Given the description of an element on the screen output the (x, y) to click on. 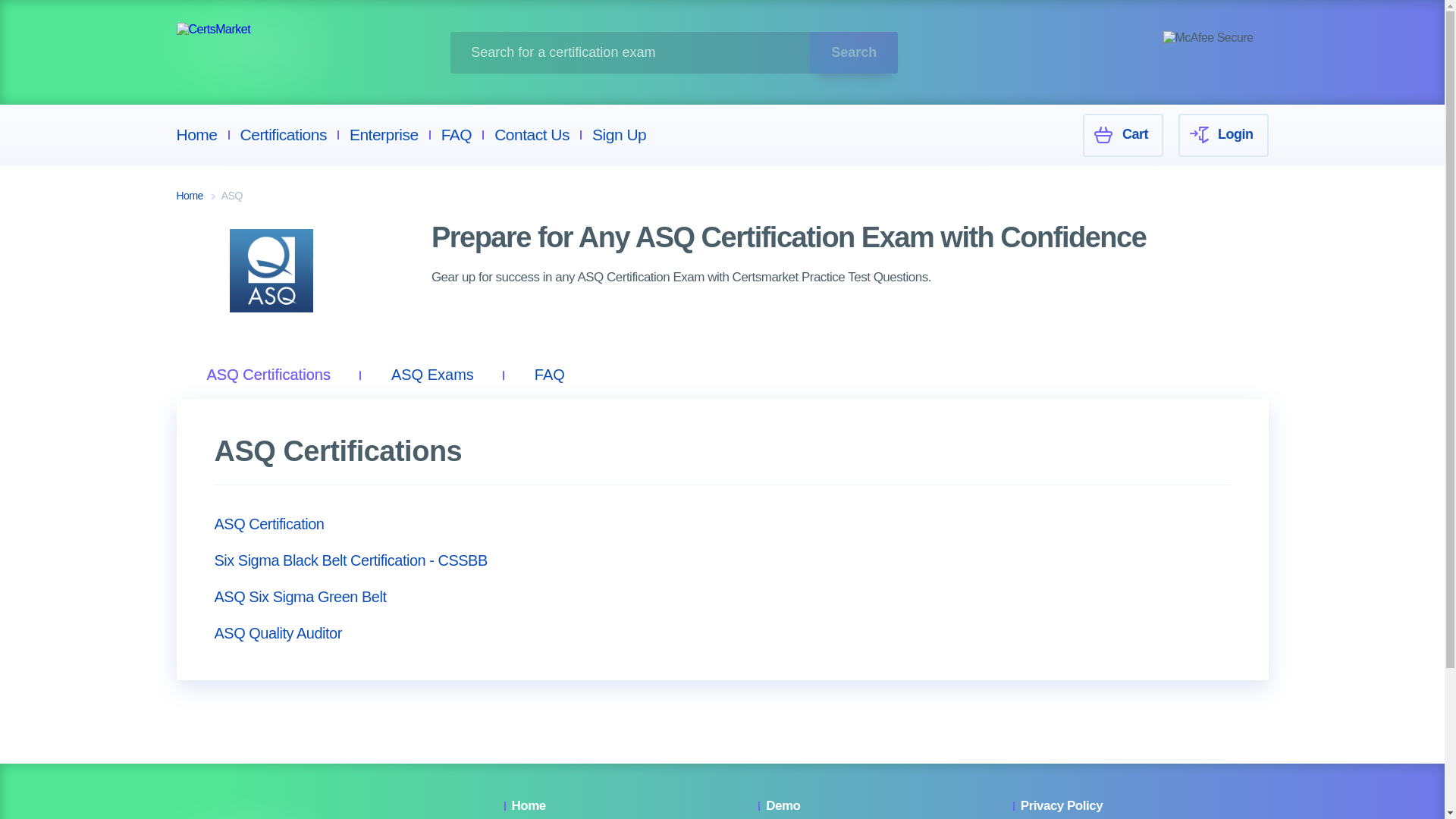
Enterprise (384, 134)
Sign Up (619, 134)
Salesforce (687, 55)
CompTIA (507, 9)
Amazon (861, 55)
Cisco (497, 55)
Home (196, 134)
Contact Us (532, 134)
FAQ (456, 134)
MuleSoft (861, 100)
Microsoft (327, 9)
Certifications (283, 134)
VMware (325, 100)
Fortinet (679, 9)
Search (853, 52)
